Given the description of an element on the screen output the (x, y) to click on. 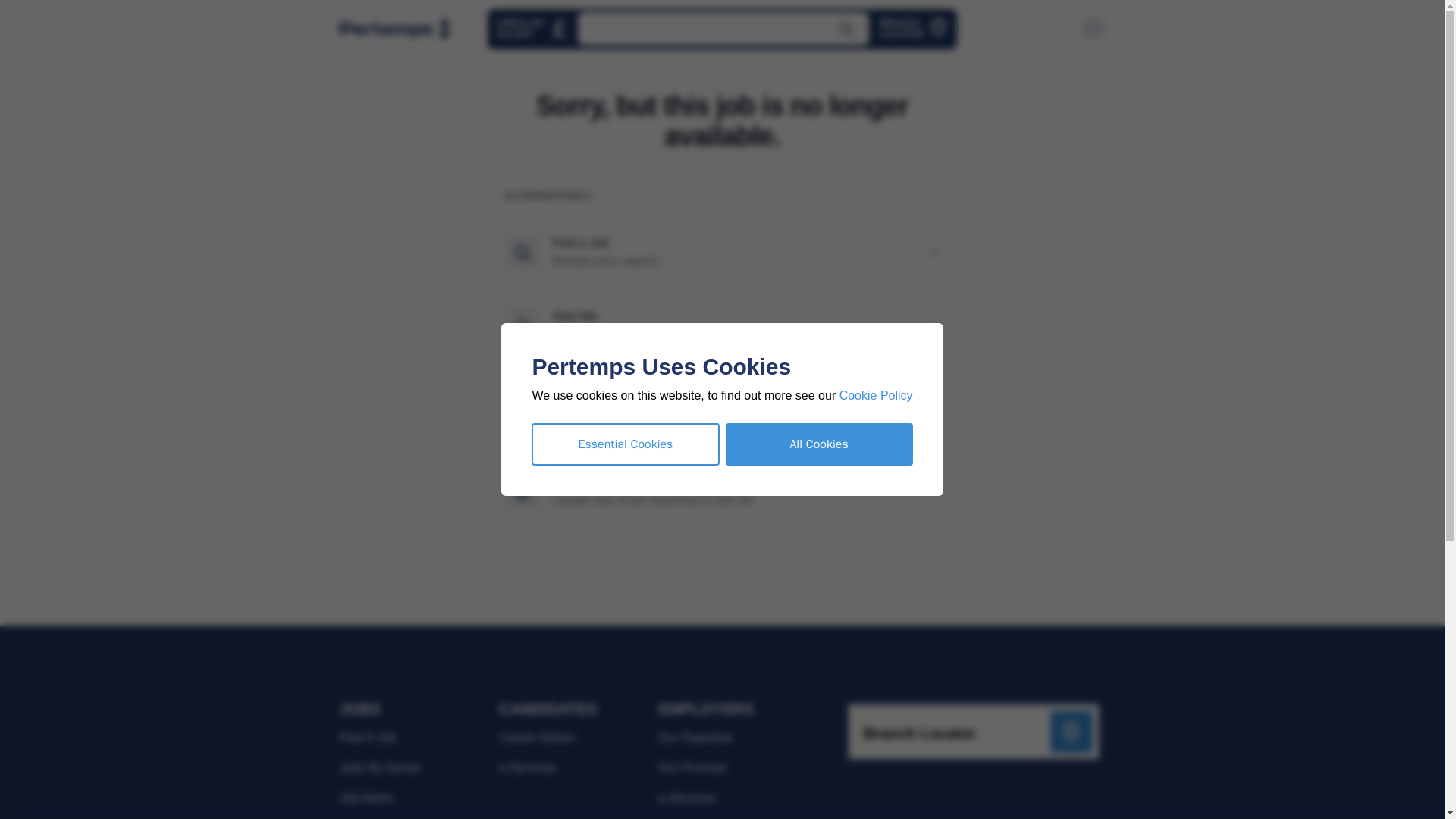
Go to Salary Health Checker (531, 28)
Go to Branch Locator (913, 28)
Cookie Policy (876, 395)
Essential Cookies (625, 444)
All Cookies (818, 444)
Open Navigation (1093, 28)
Home (913, 28)
Go to Job Search (393, 28)
